Given the description of an element on the screen output the (x, y) to click on. 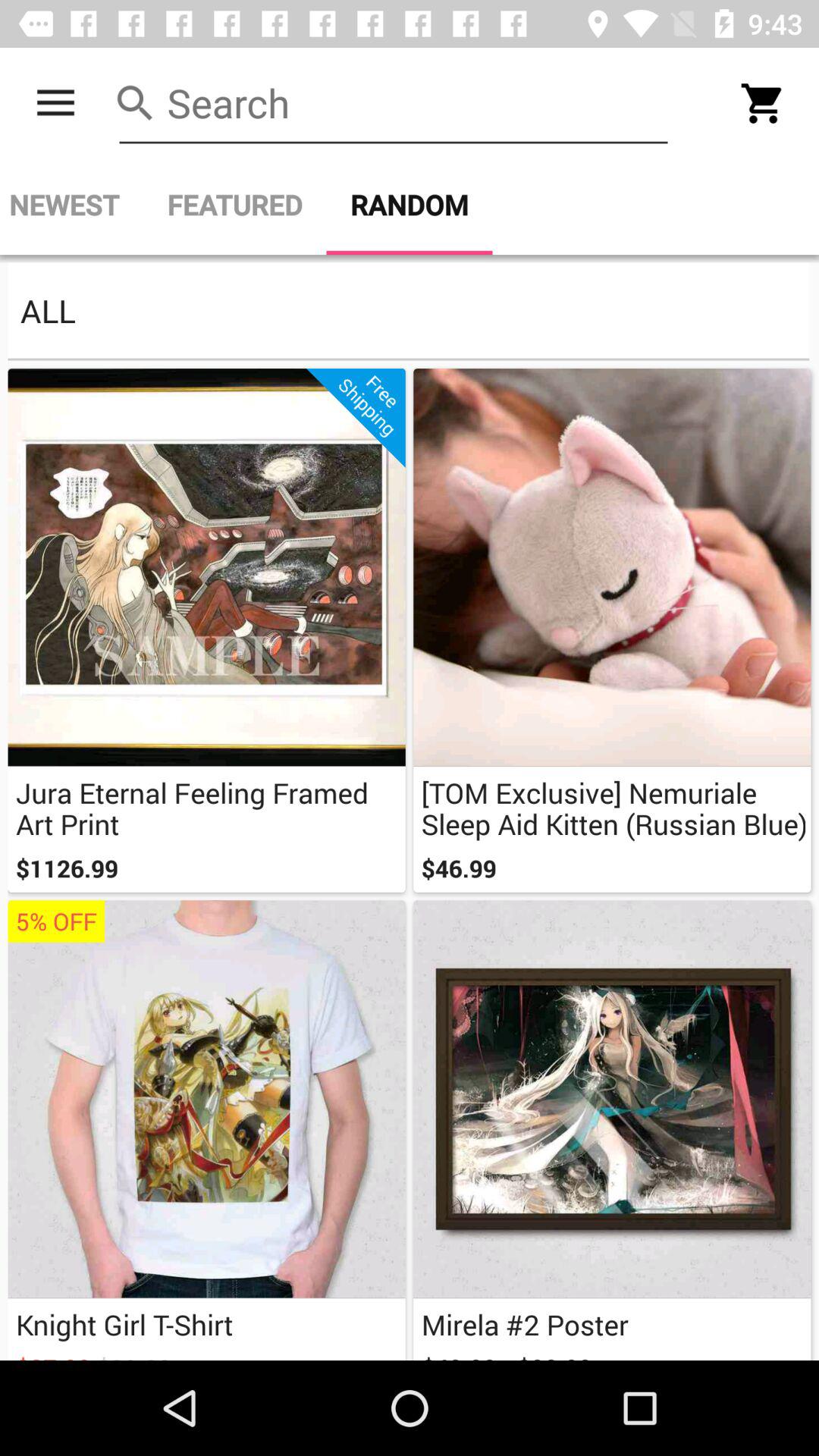
press the icon above newest icon (55, 103)
